Given the description of an element on the screen output the (x, y) to click on. 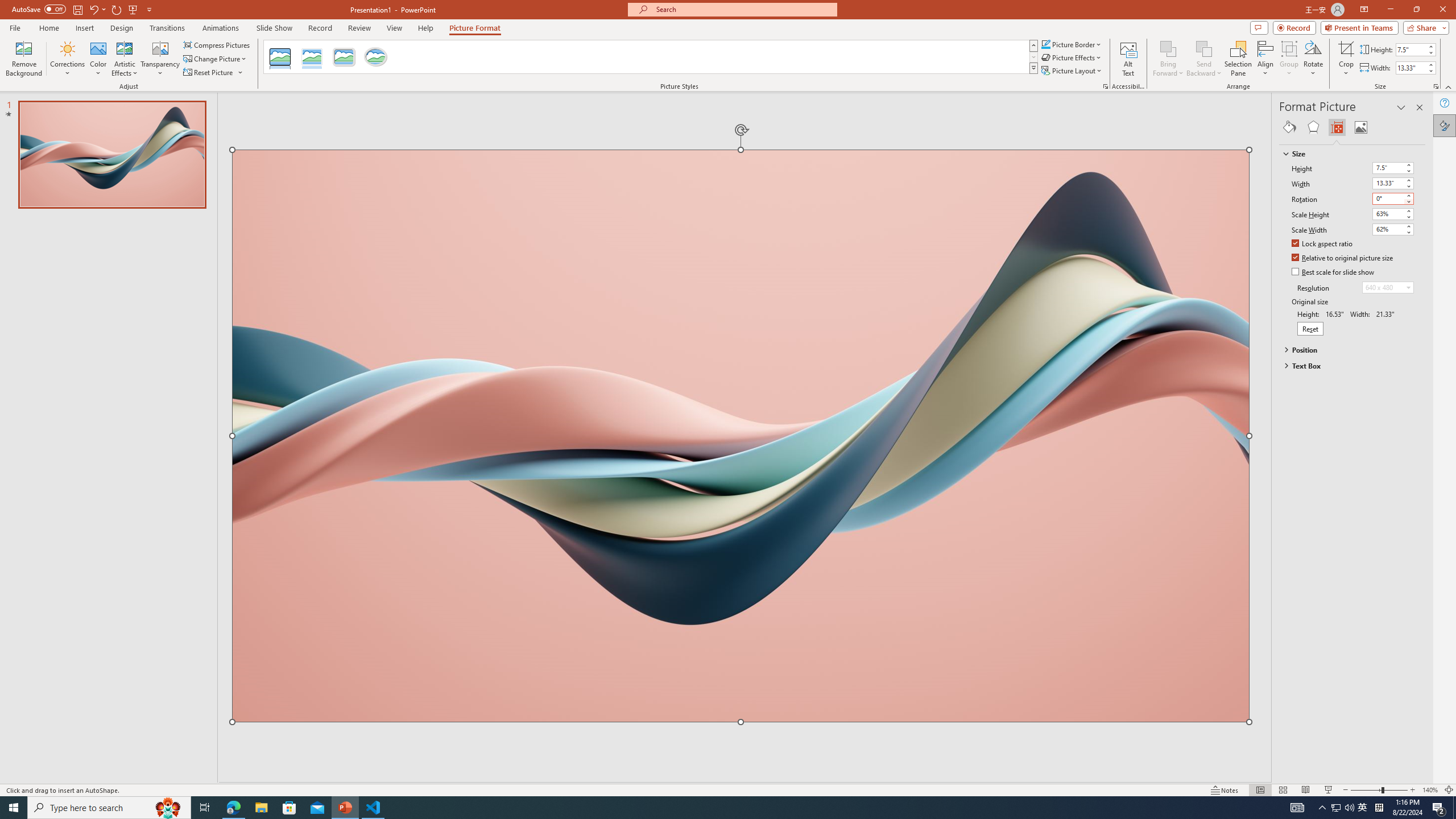
Bring Forward (1168, 48)
Class: NetUIScrollBar (1420, 460)
Corrections (67, 58)
Scale Width (1388, 229)
Size and Position... (1435, 85)
Picture Effects (1072, 56)
Crop (1345, 48)
Scale Height (1393, 214)
